Given the description of an element on the screen output the (x, y) to click on. 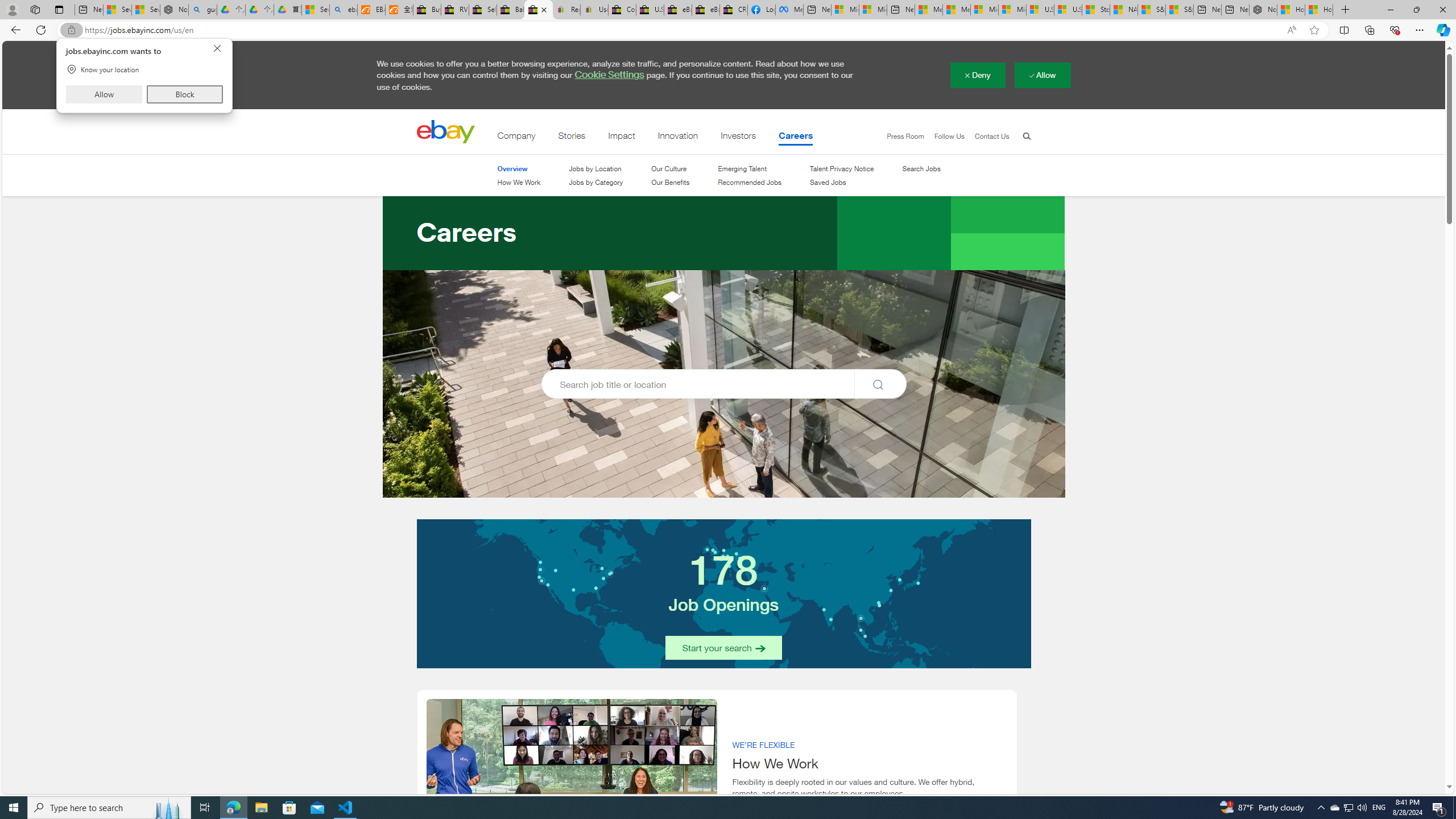
Company (515, 138)
Company (515, 138)
Search job title or location (723, 384)
Search highlights icon opens search home window (167, 807)
Stories (571, 138)
Running applications (706, 807)
Start (13, 807)
Saved Jobs (841, 182)
RV, Trailer & Camper Steps & Ladders for sale | eBay (454, 9)
